Given the description of an element on the screen output the (x, y) to click on. 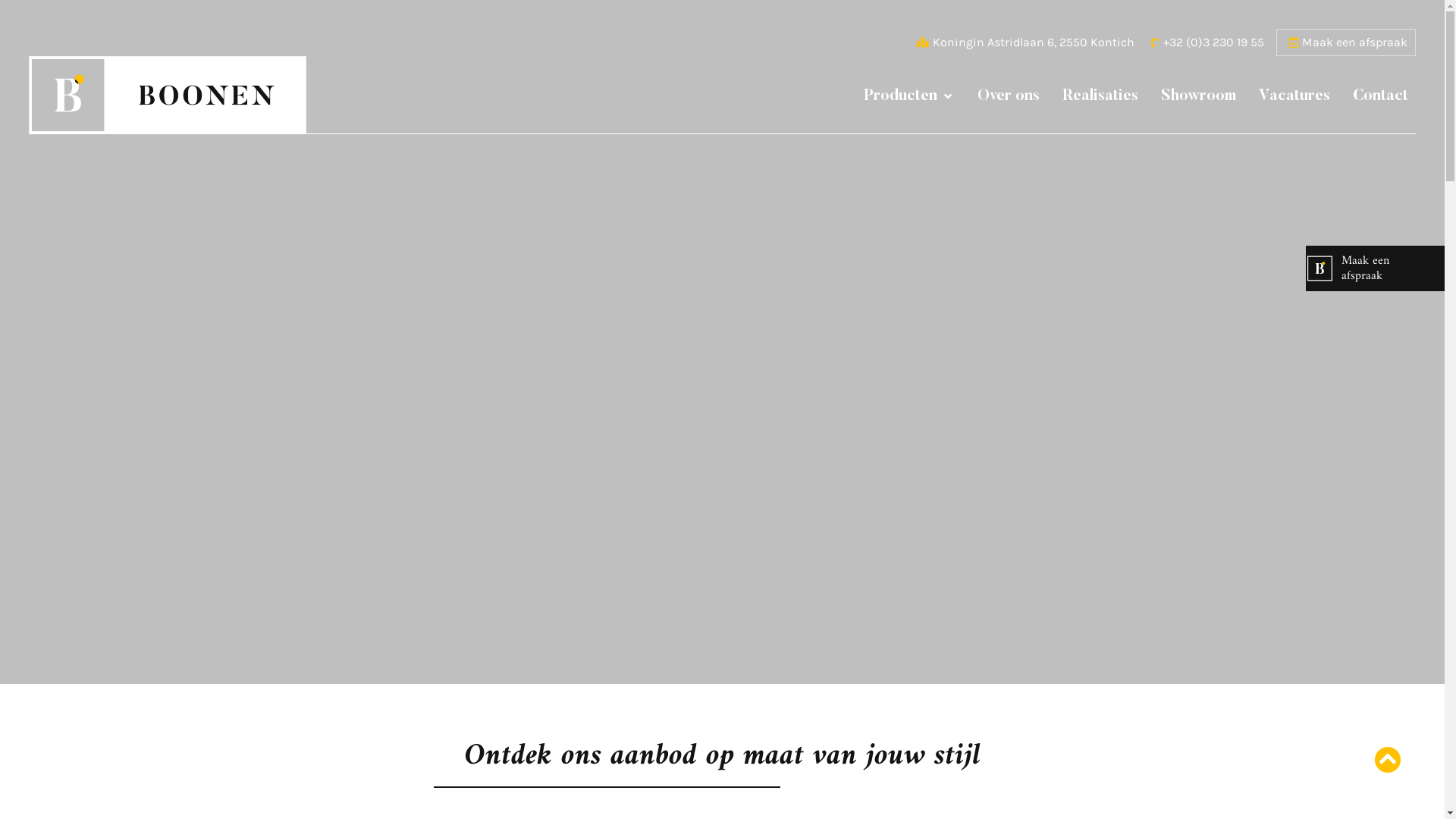
Over ons Element type: text (1008, 95)
Contact Element type: text (1380, 95)
+32 (0)3 230 19 55 Element type: text (1205, 42)
Producten Element type: text (900, 95)
Showroom Element type: text (1198, 95)
Maak een afspraak Element type: text (1374, 268)
Vacatures Element type: text (1294, 95)
Koningin Astridlaan 6, 2550 Kontich Element type: text (1024, 42)
Realisaties Element type: text (1100, 95)
Maak een afspraak Element type: text (1345, 42)
